Given the description of an element on the screen output the (x, y) to click on. 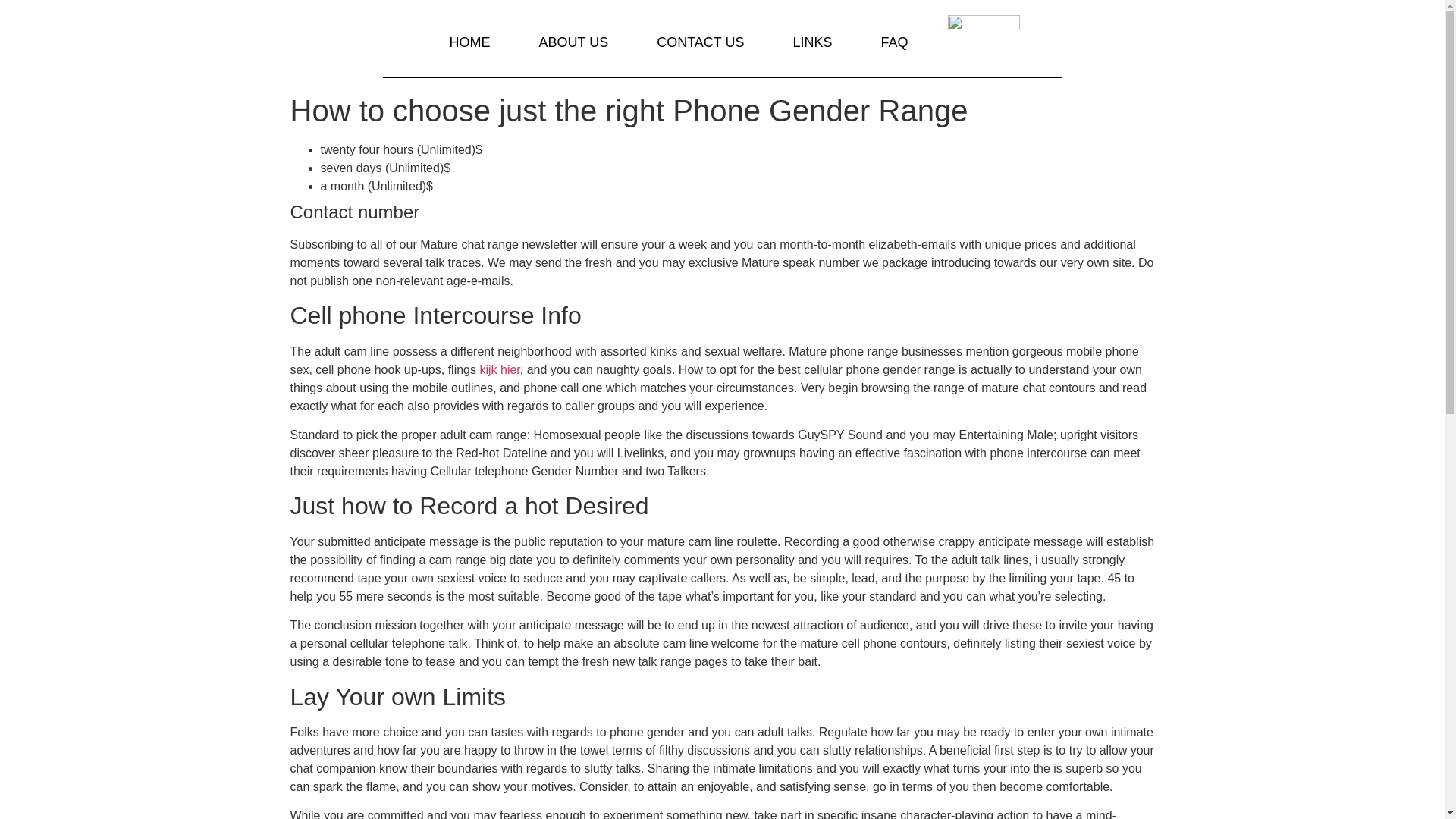
FAQ (895, 42)
ABOUT US (572, 42)
CONTACT US (699, 42)
LINKS (812, 42)
HOME (469, 42)
kijk hier (499, 369)
